Given the description of an element on the screen output the (x, y) to click on. 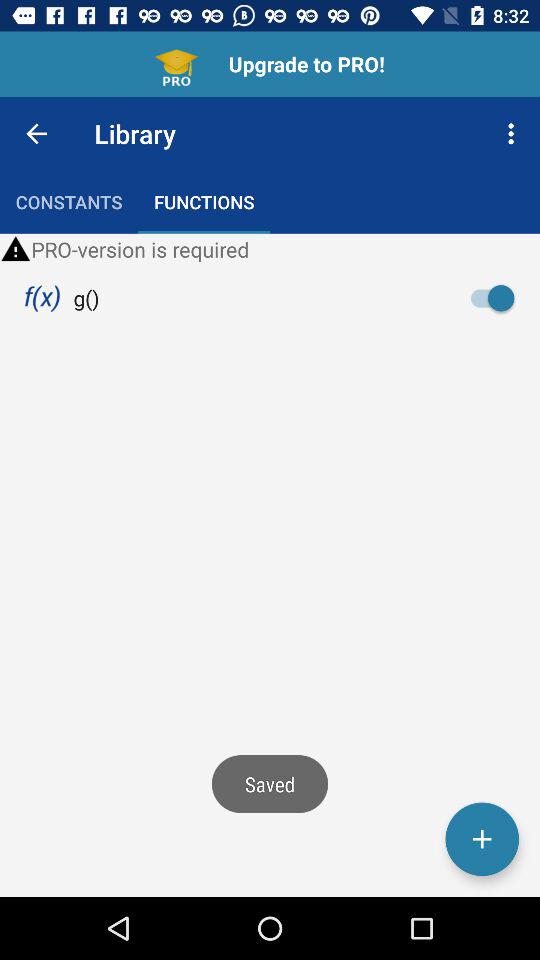
open the item at the bottom right corner (482, 839)
